Given the description of an element on the screen output the (x, y) to click on. 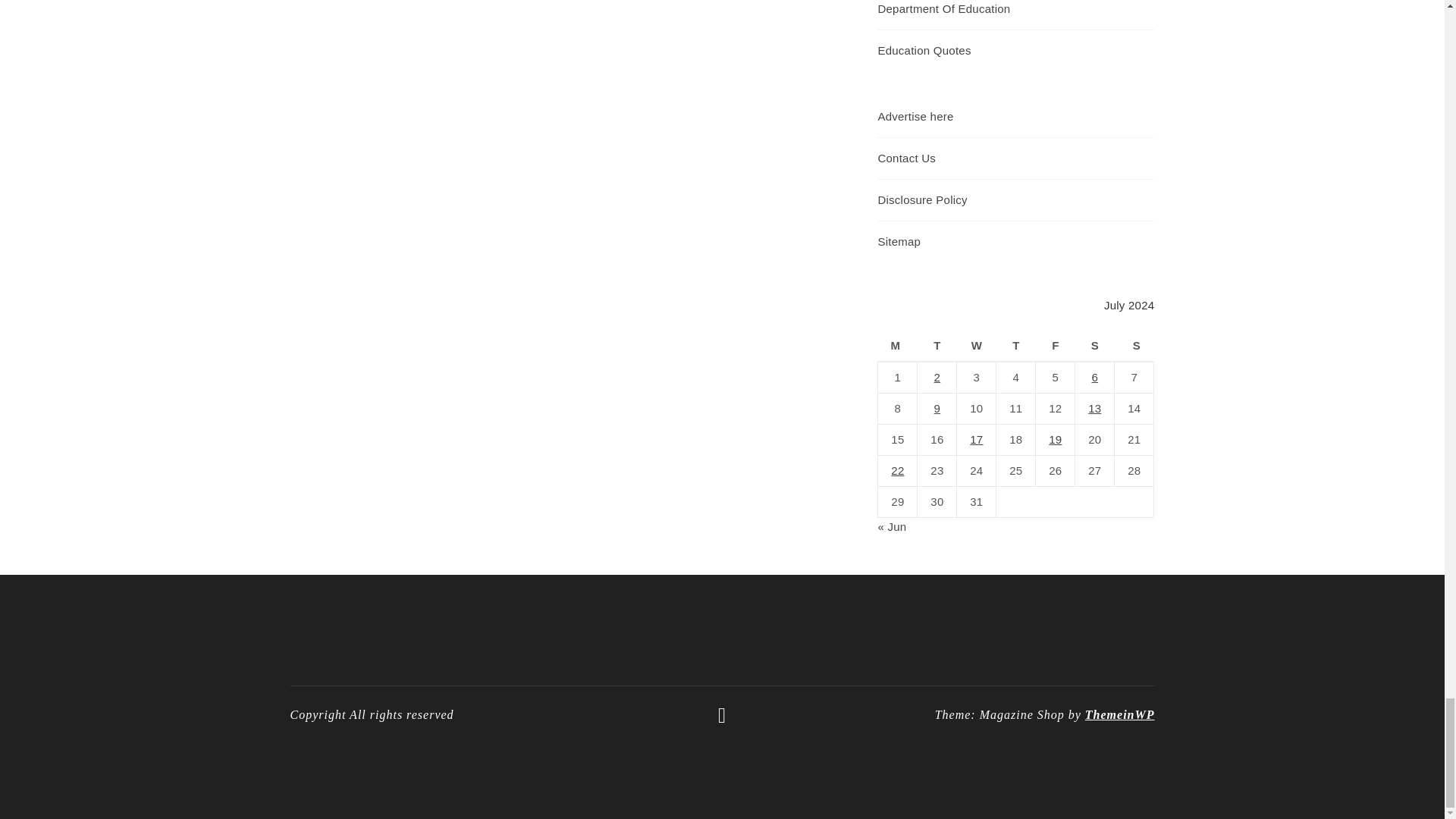
Saturday (1095, 346)
Thursday (1015, 346)
Monday (897, 346)
Sunday (1134, 346)
Tuesday (936, 346)
Wednesday (975, 346)
Friday (1055, 346)
